Given the description of an element on the screen output the (x, y) to click on. 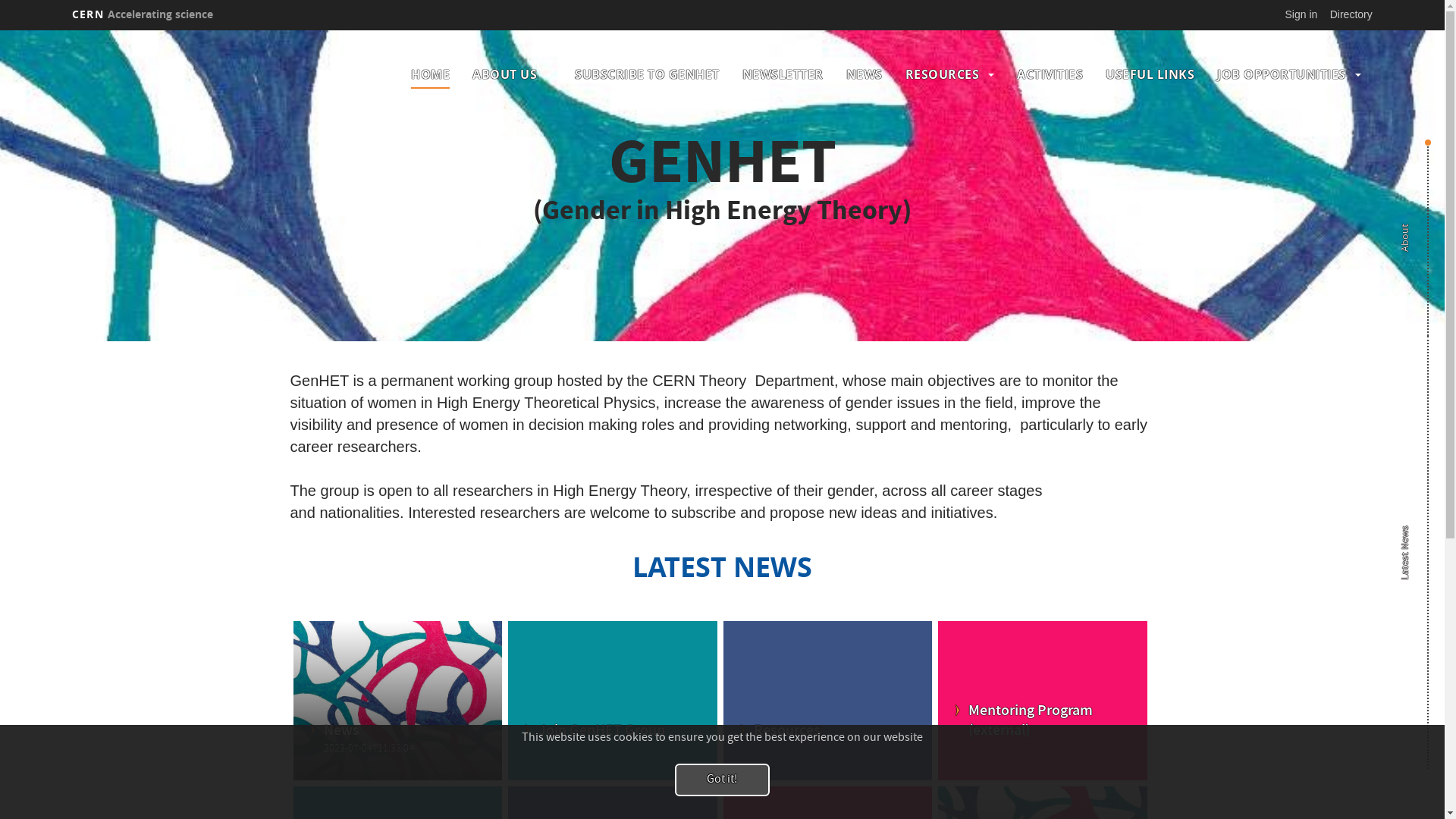
NEWS Element type: text (864, 74)
Directory Element type: text (1351, 14)
ACTIVITIES Element type: text (1049, 74)
Mentoring Program (external) Element type: text (1042, 721)
CERN Accelerating science Element type: text (142, 14)
Sign in Element type: text (1301, 14)
NEWSLETTER Element type: text (782, 74)
Got it! Element type: text (721, 779)
SUBSCRIBE TO GENHET Element type: text (646, 74)
RESOURCES Element type: text (942, 74)
About Element type: text (1422, 221)
News Element type: text (397, 731)
Resources Element type: text (827, 731)
USEFUL LINKS Element type: text (1149, 74)
Join GenHET Group Element type: text (612, 731)
ABOUT US Element type: text (504, 74)
HOME Element type: text (430, 74)
JOB OPPORTUNITIES Element type: text (1281, 74)
Skip to main content Element type: text (0, 30)
